Given the description of an element on the screen output the (x, y) to click on. 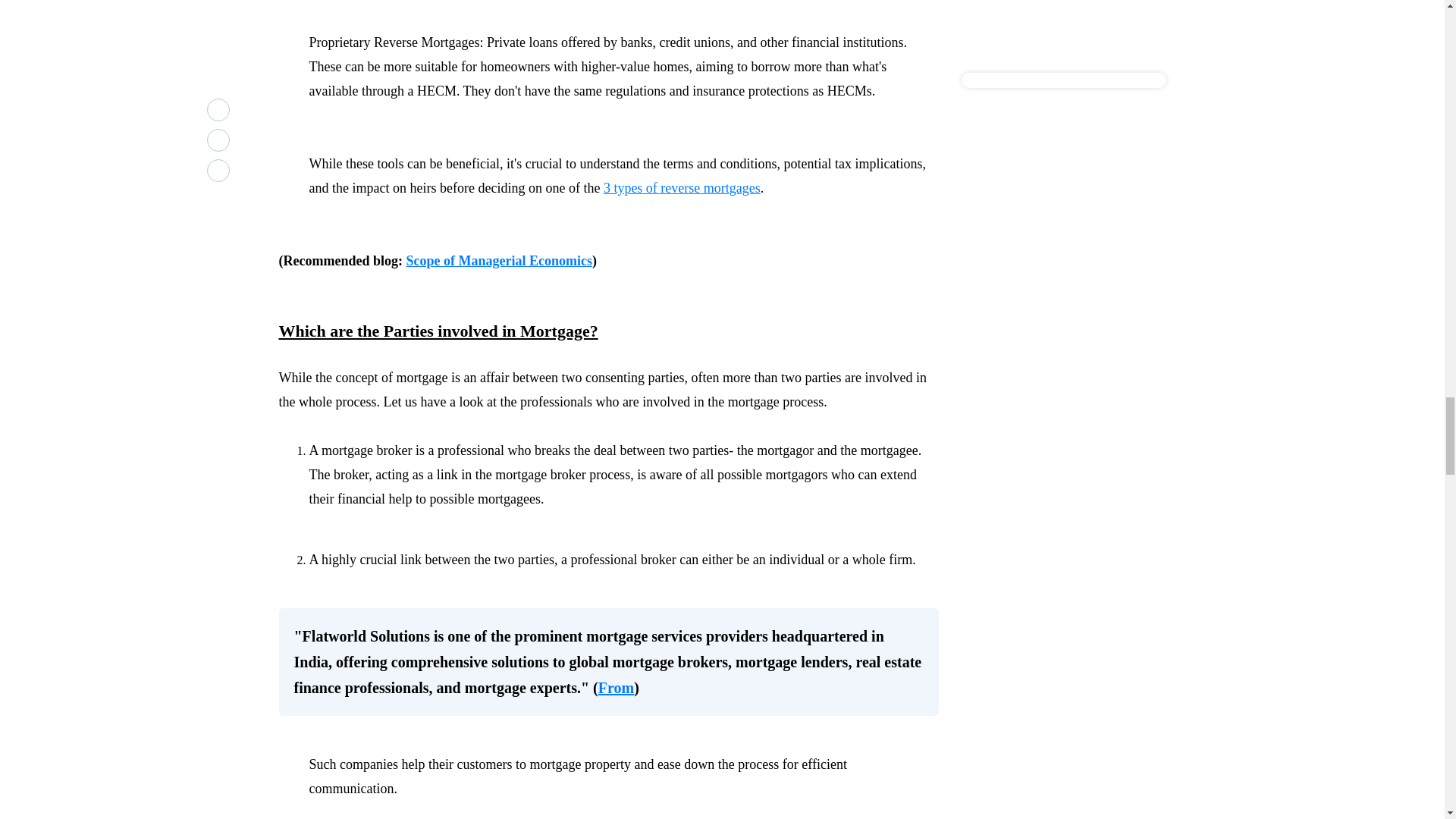
3 types of reverse mortgages (682, 187)
From (615, 687)
Scope of Managerial Economics (498, 260)
